Given the description of an element on the screen output the (x, y) to click on. 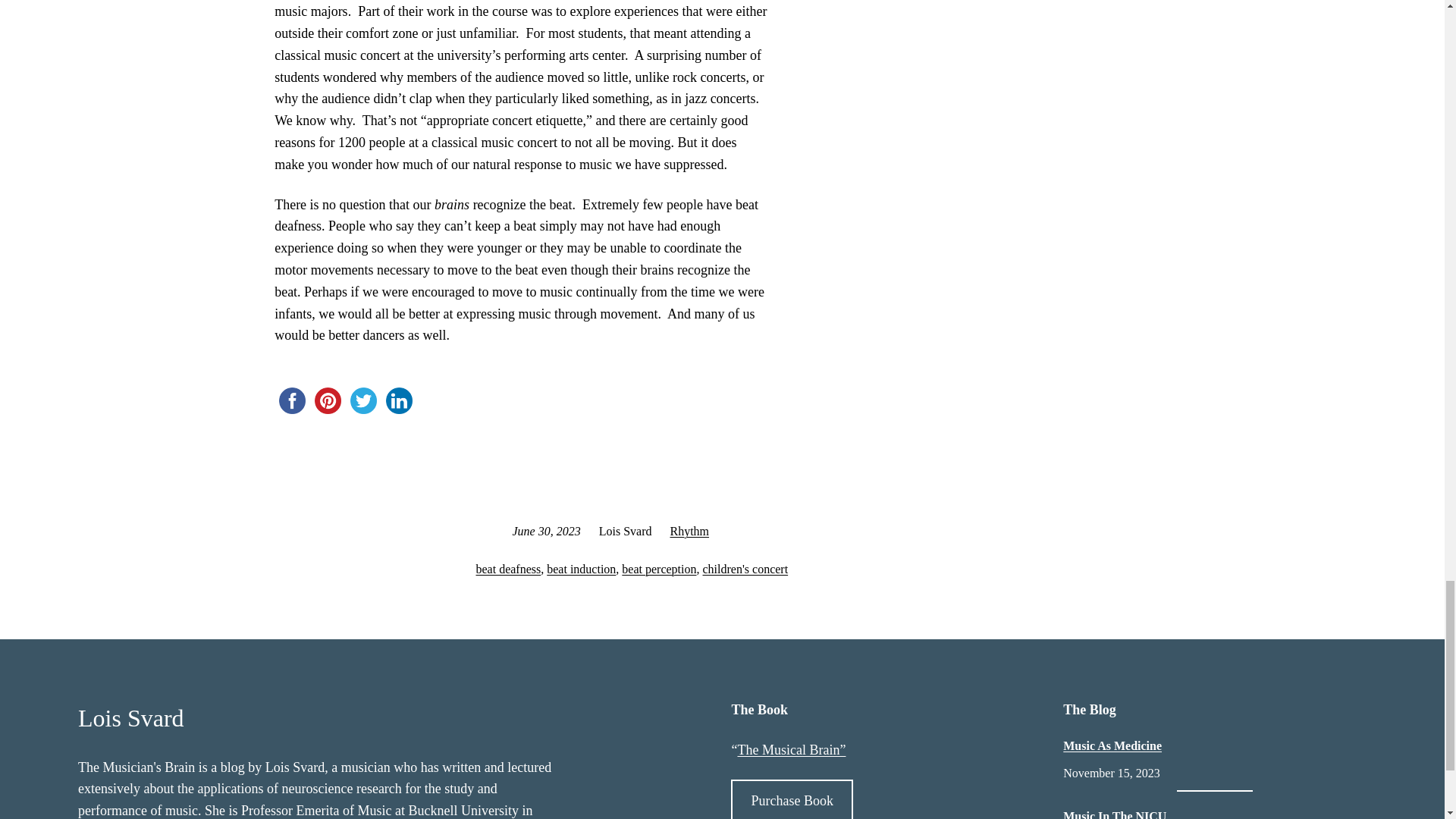
linkedin (398, 400)
facebook (292, 400)
pinterest (328, 400)
beat perception (658, 568)
Purchase Book (790, 799)
twitter (363, 400)
Music In The NICU (1114, 814)
Lois Svard (131, 718)
beat deafness (508, 568)
beat induction (581, 568)
